Given the description of an element on the screen output the (x, y) to click on. 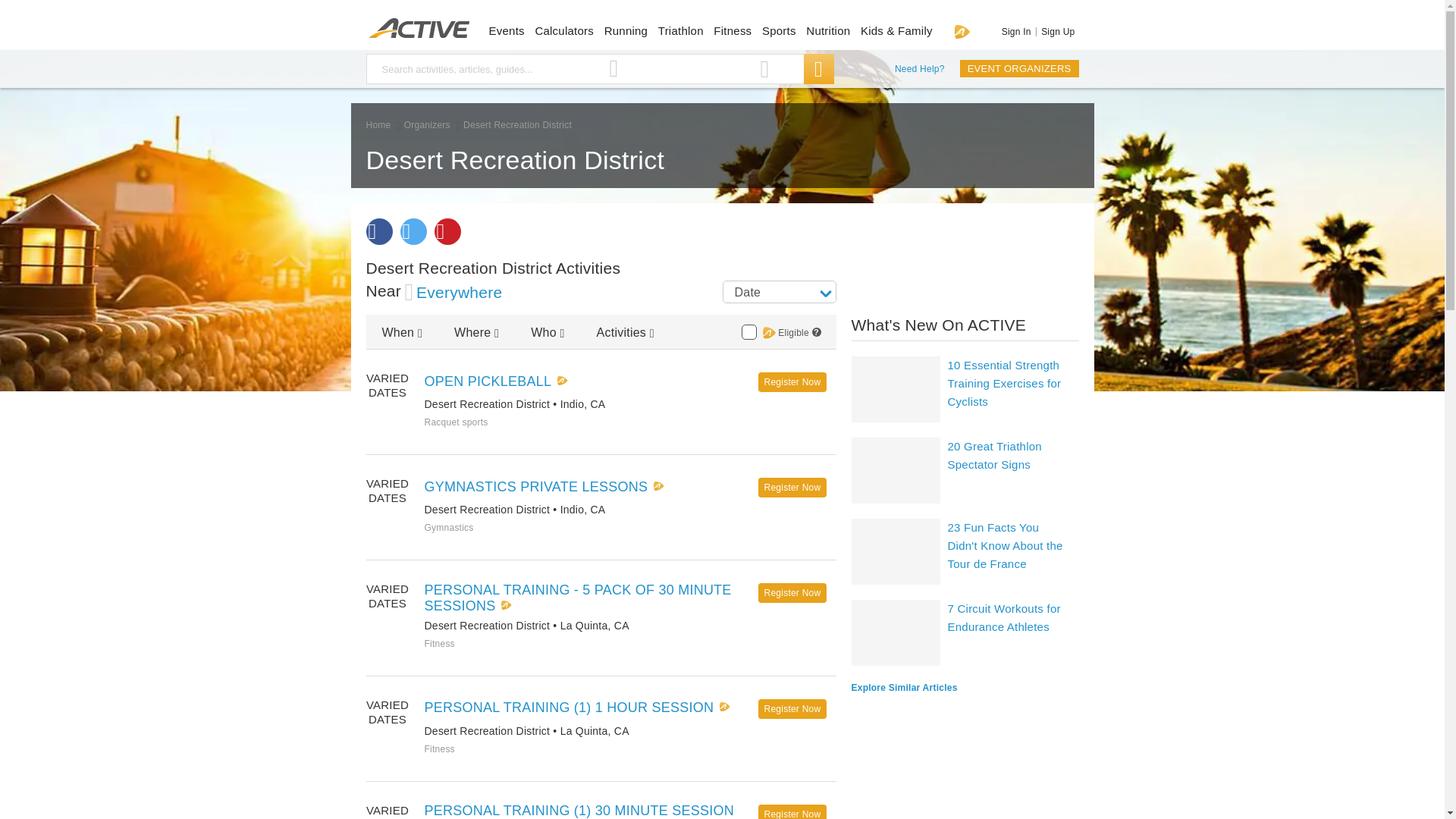
Share on Facebook (378, 231)
Go Premium (961, 31)
Share on Twitter (413, 231)
Share on Pinterest (446, 231)
